Given the description of an element on the screen output the (x, y) to click on. 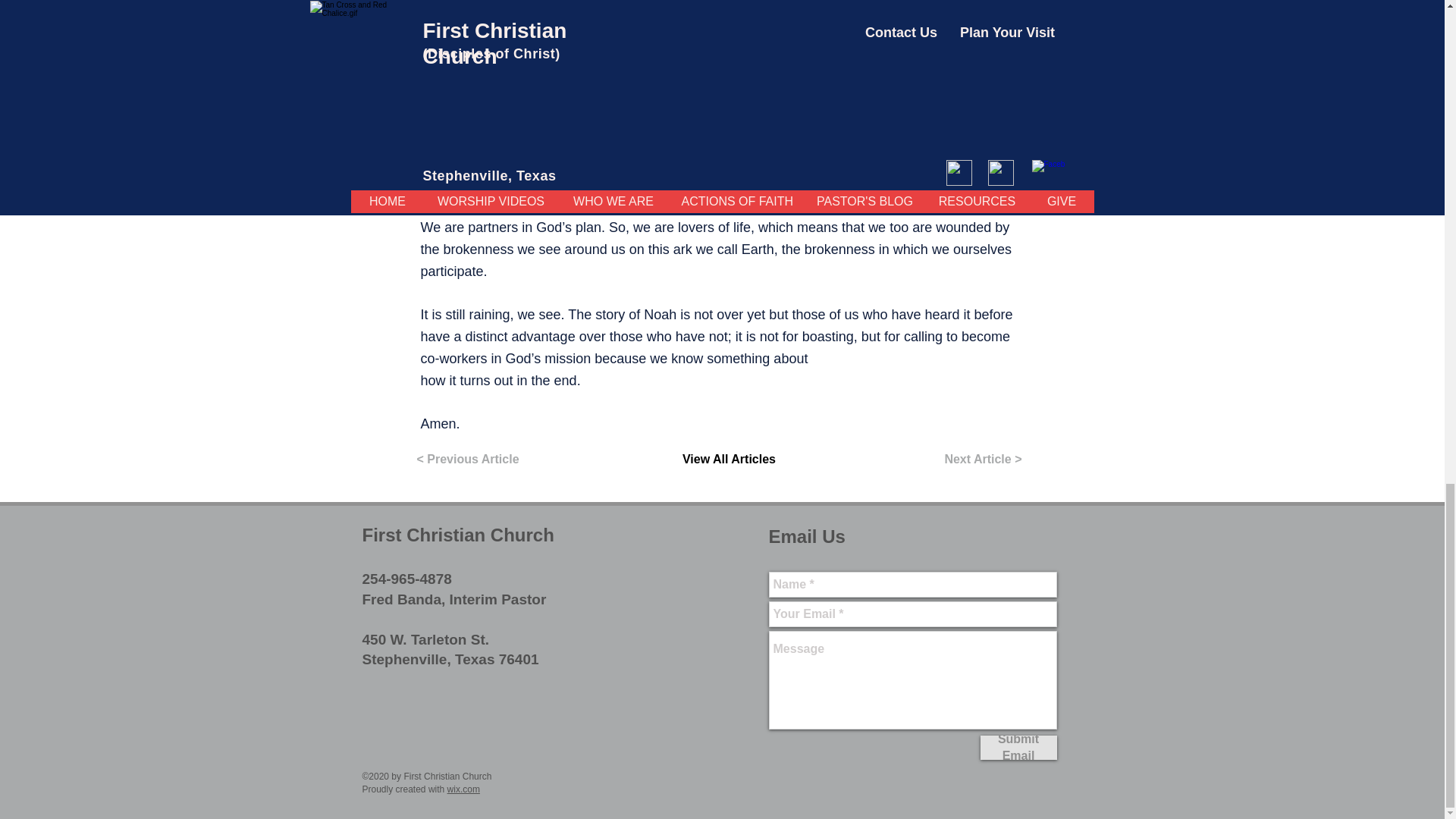
Submit Email (1018, 747)
wix.com (463, 788)
View All Articles (728, 459)
